Given the description of an element on the screen output the (x, y) to click on. 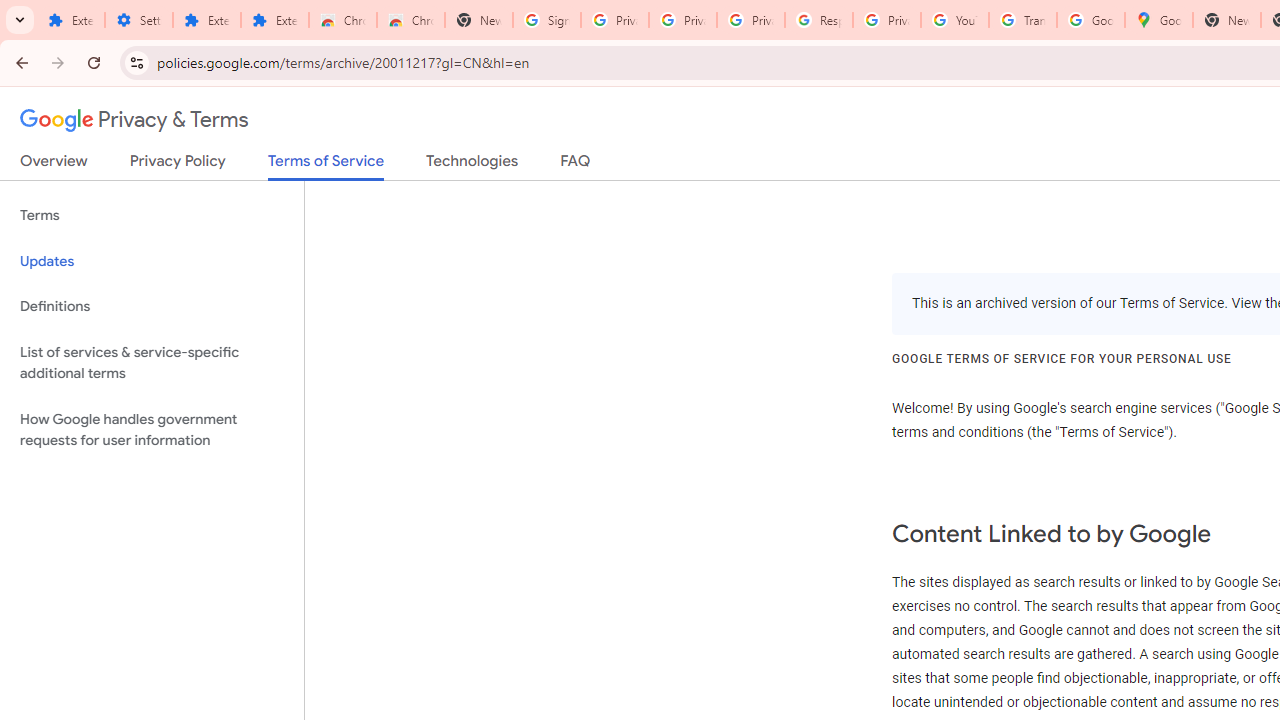
Extensions (206, 20)
List of services & service-specific additional terms (152, 362)
Terms of Service (326, 166)
Extensions (70, 20)
YouTube (954, 20)
